Given the description of an element on the screen output the (x, y) to click on. 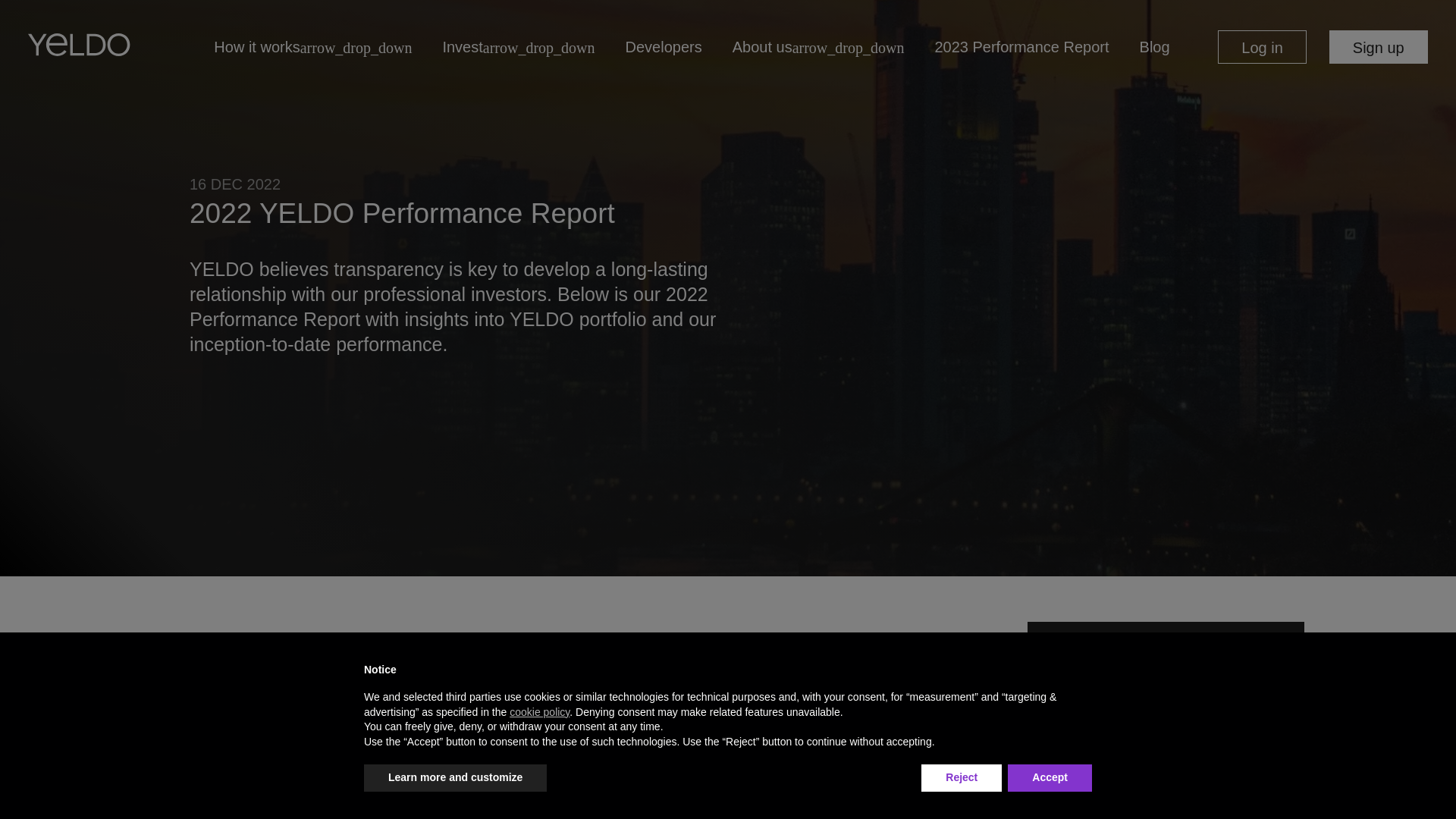
Sign up (1378, 46)
Log in (1261, 46)
Blog (1146, 46)
Developers (656, 46)
Yeldo home (79, 46)
2023 Performance Report (1013, 46)
